Given the description of an element on the screen output the (x, y) to click on. 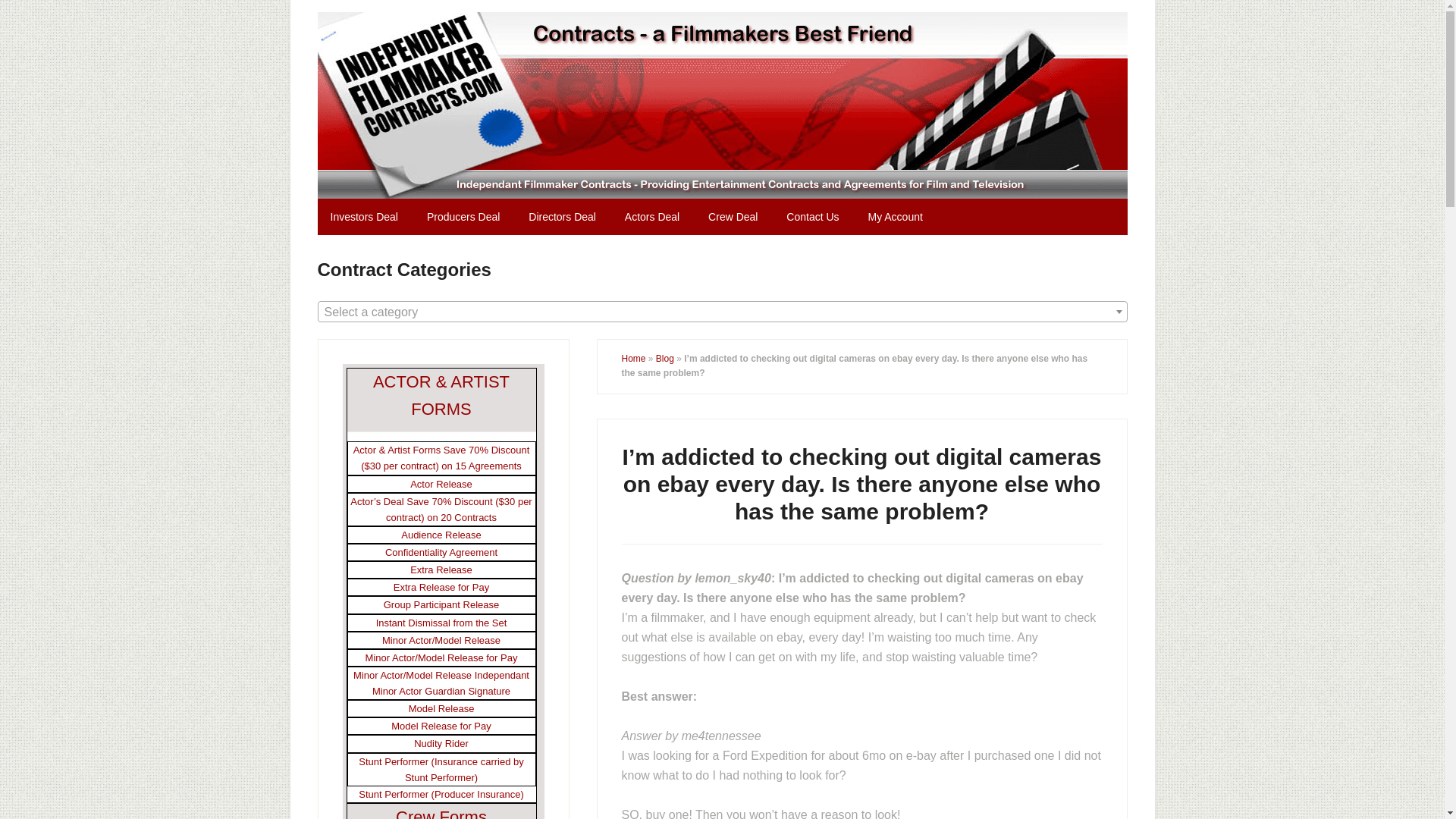
Crew Deal (732, 217)
Contact Us (812, 217)
Investors Deal (363, 217)
Nudity Rider (440, 743)
Extra Release (440, 569)
Directors Deal (561, 217)
Crew Forms (441, 813)
Group Participant Release (441, 604)
Model Release (441, 708)
Confidentiality Agreement (441, 552)
